Given the description of an element on the screen output the (x, y) to click on. 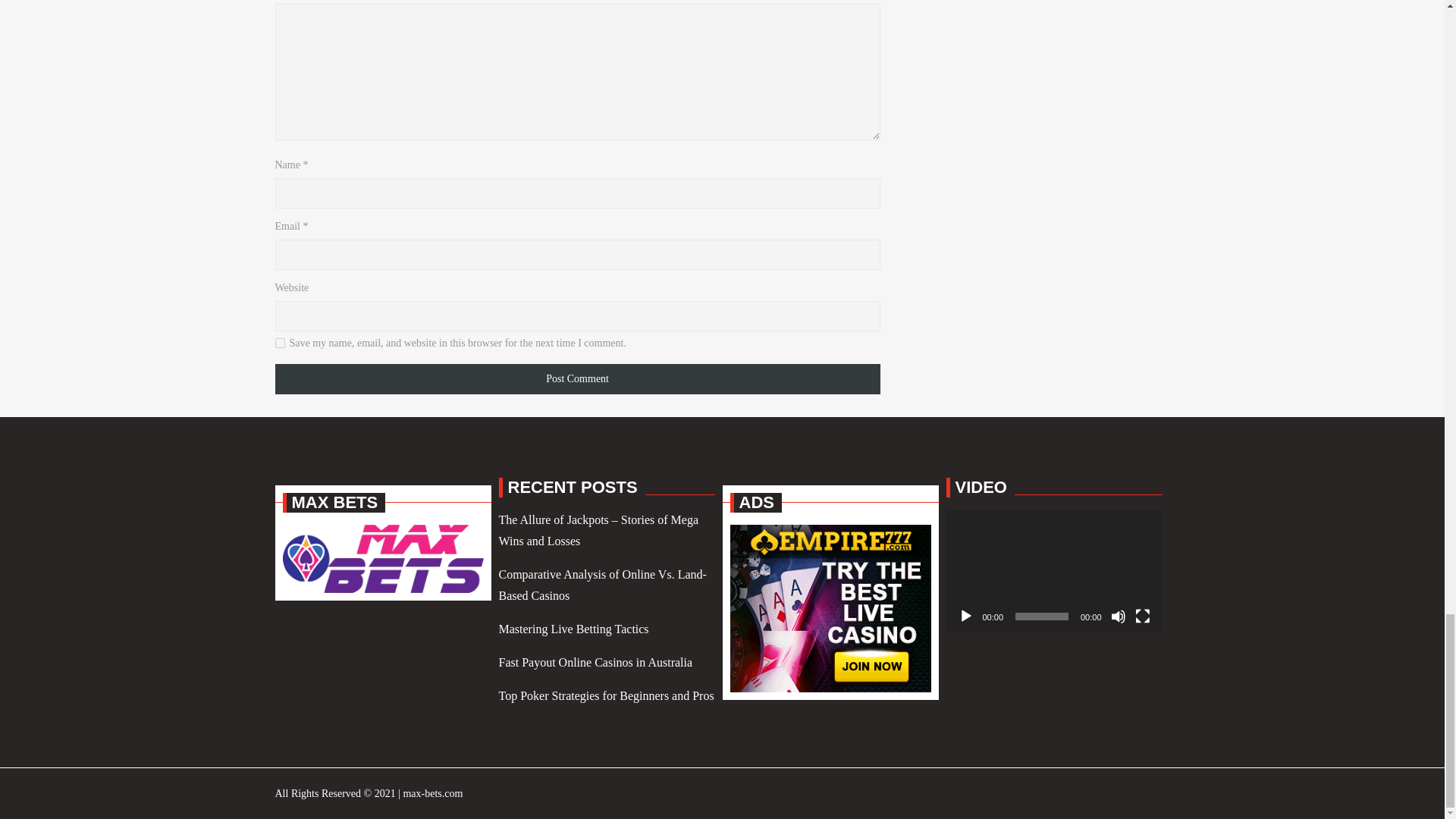
Mute (1117, 616)
Fullscreen (1142, 616)
Play (966, 616)
Post Comment (577, 378)
yes (279, 343)
Post Comment (577, 378)
